Given the description of an element on the screen output the (x, y) to click on. 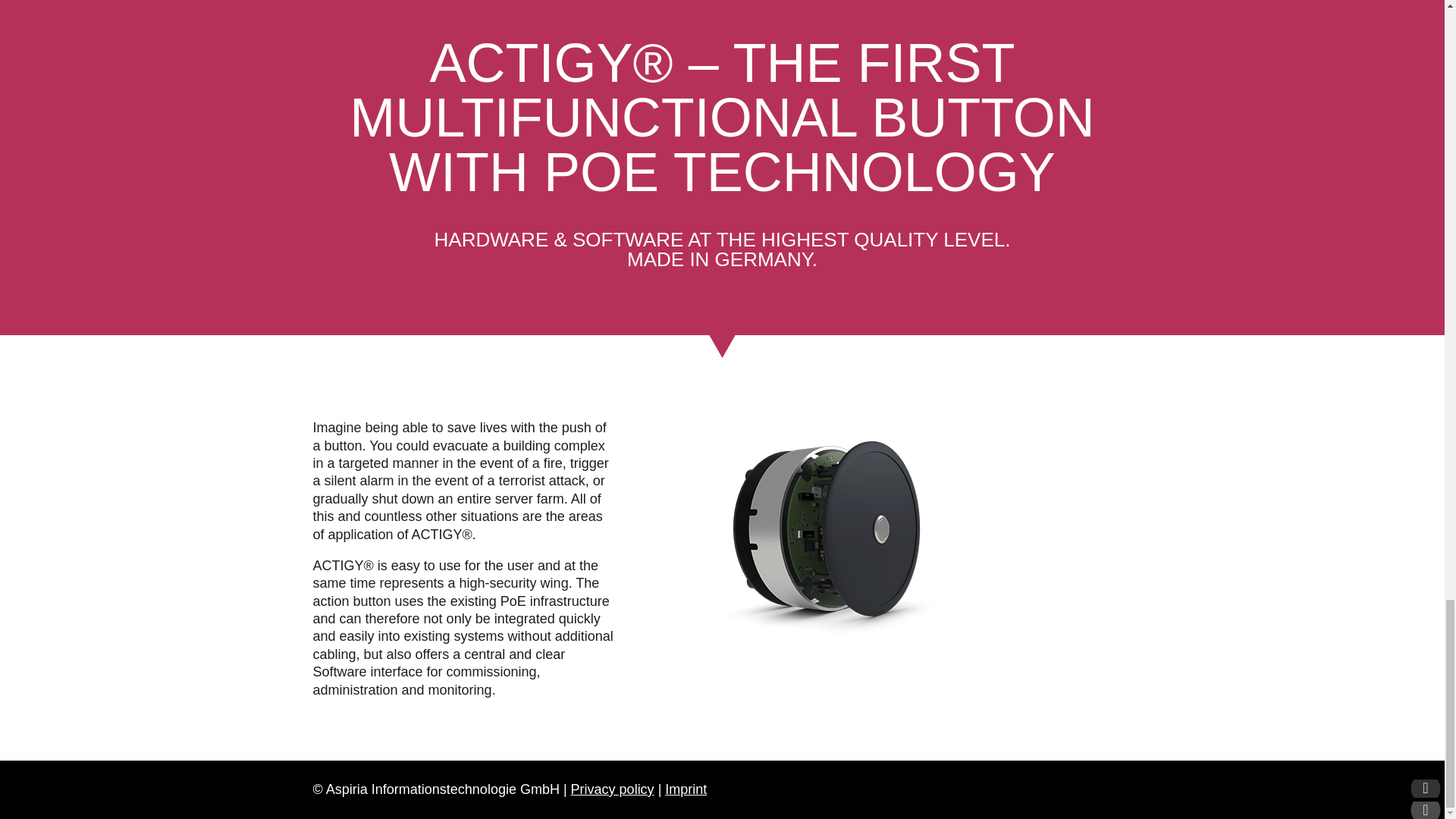
actigy-explosion (894, 540)
